Given the description of an element on the screen output the (x, y) to click on. 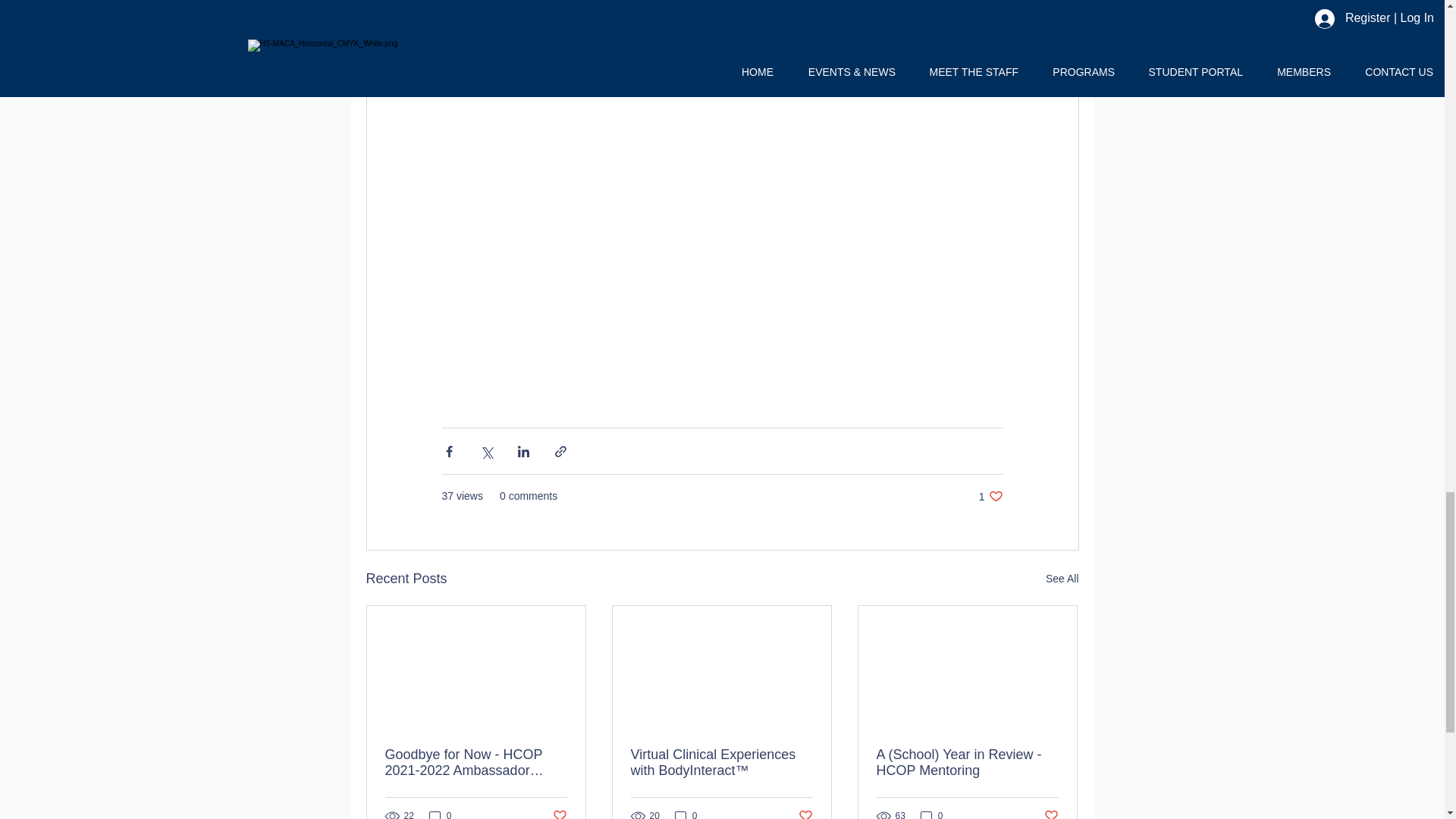
0 (685, 814)
Post not marked as liked (558, 813)
0 (990, 495)
Post not marked as liked (931, 814)
0 (1050, 813)
See All (440, 814)
Post not marked as liked (1061, 578)
